Given the description of an element on the screen output the (x, y) to click on. 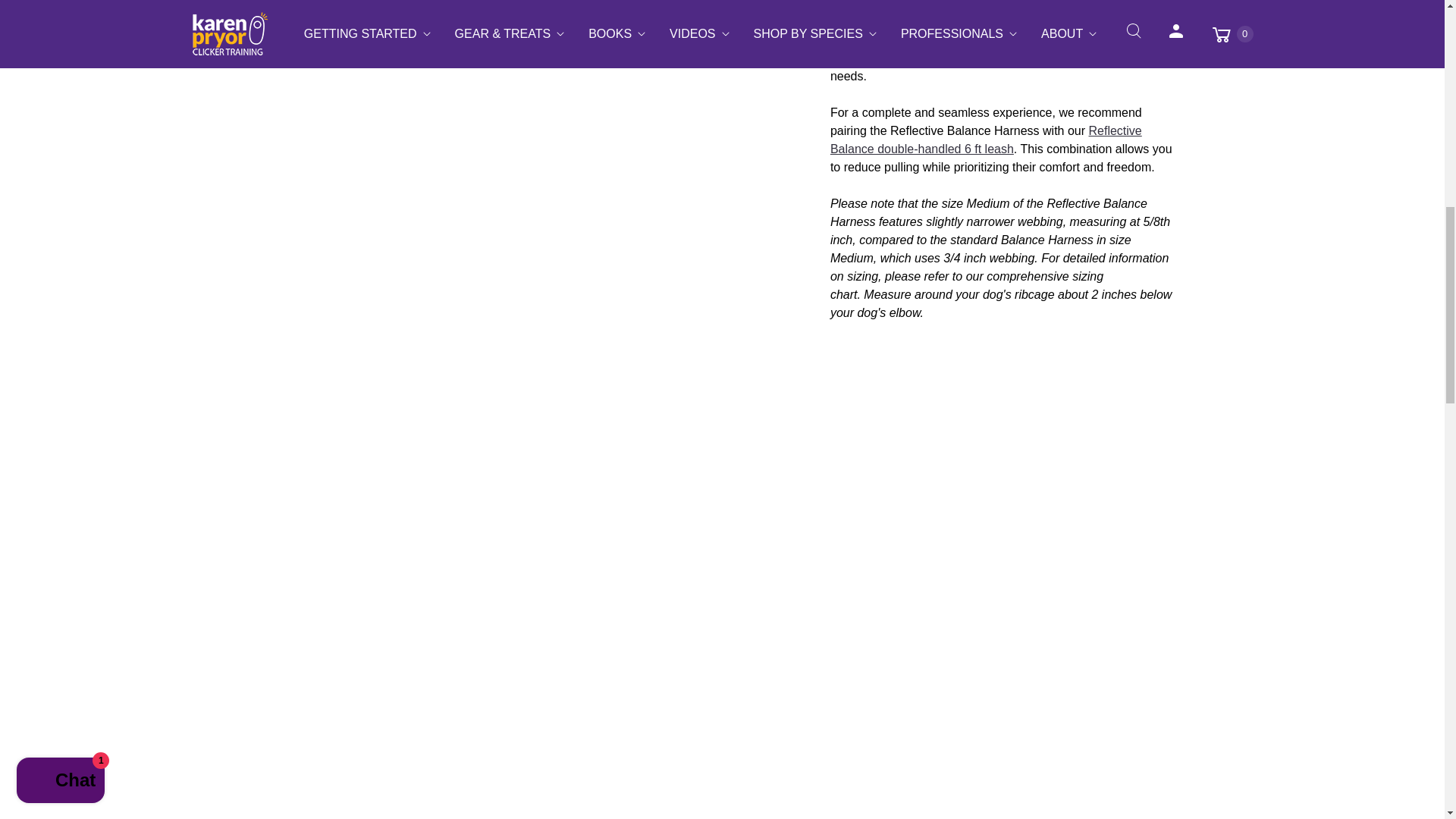
Blue-9 Reflective 6 Foot Leash (985, 139)
